Given the description of an element on the screen output the (x, y) to click on. 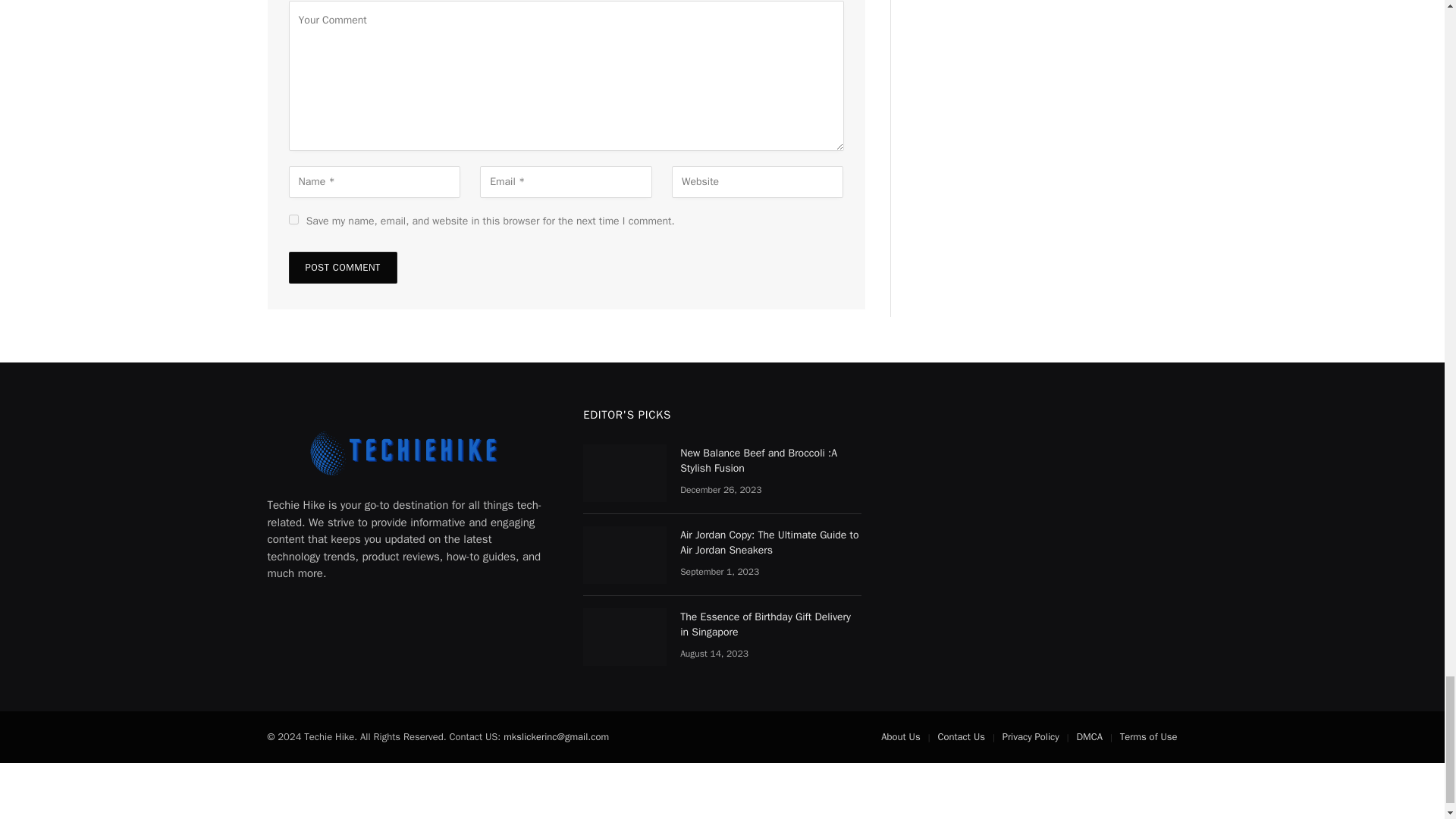
Post Comment (342, 267)
Post Comment (342, 267)
yes (293, 219)
